Given the description of an element on the screen output the (x, y) to click on. 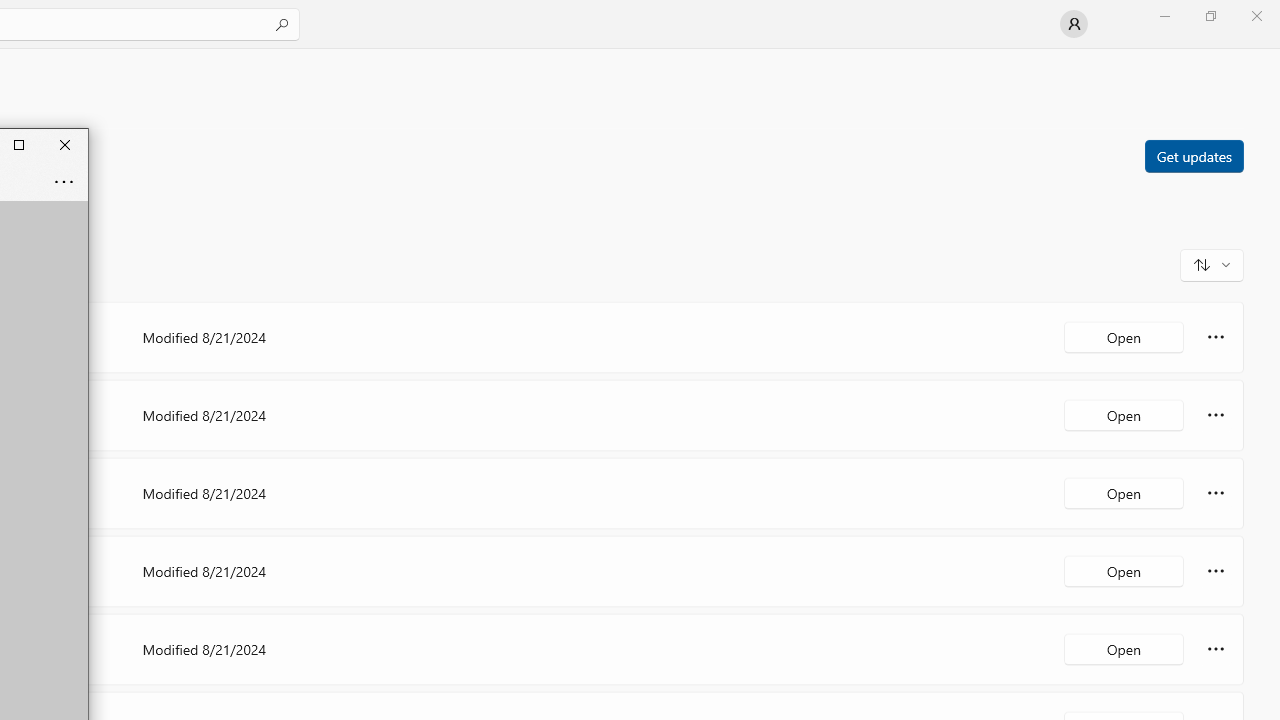
More app bar (64, 180)
Minimize Microsoft Store (1164, 15)
More options (1215, 648)
Open (1123, 648)
Sort and filter (1212, 263)
Close Microsoft Store (1256, 15)
Restore Microsoft Store (1210, 15)
Close Snip & Sketch (65, 144)
User profile (1073, 24)
Get updates (1193, 155)
